Given the description of an element on the screen output the (x, y) to click on. 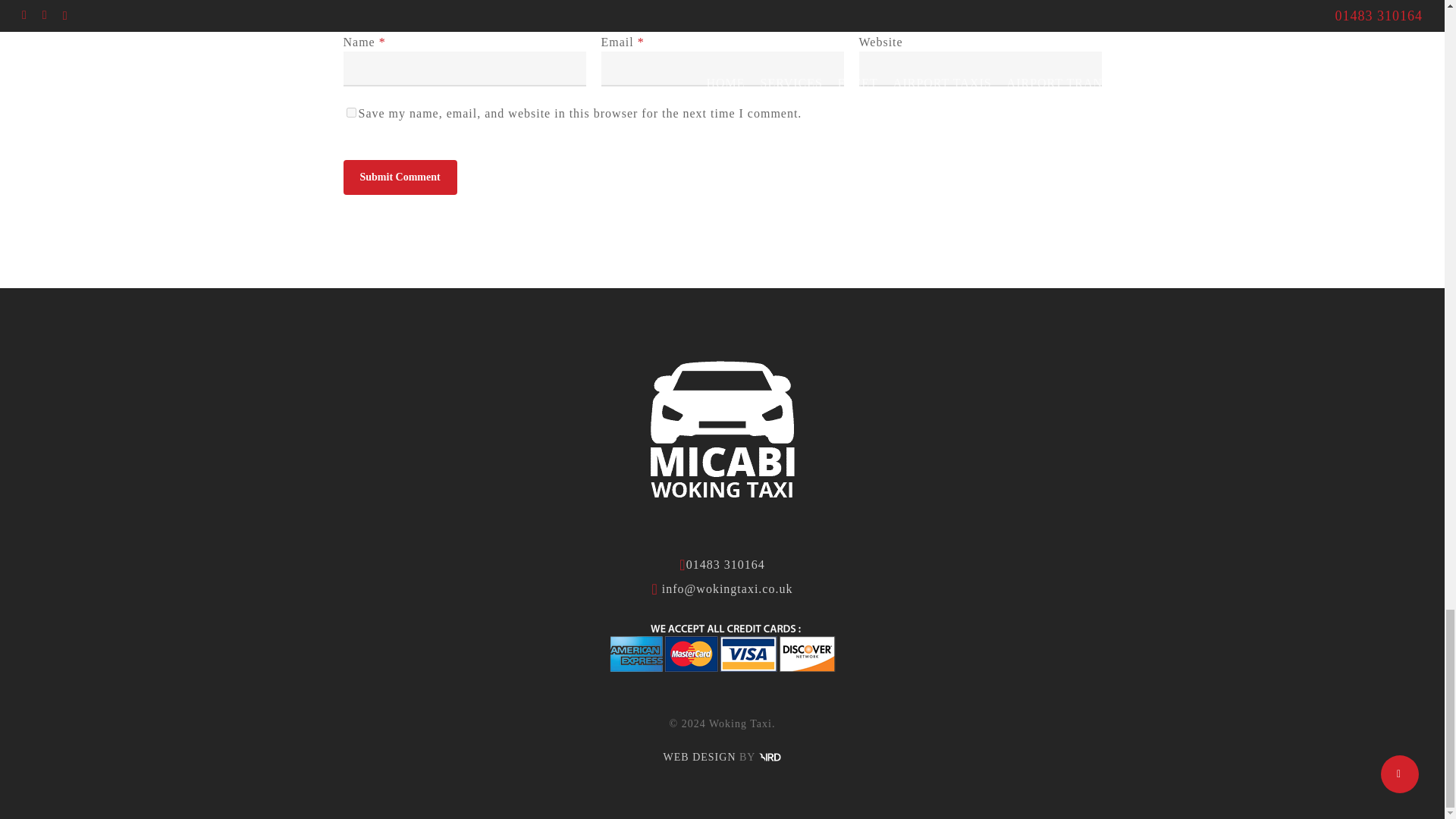
Submit Comment (399, 176)
yes (350, 112)
Submit Comment (399, 176)
